Given the description of an element on the screen output the (x, y) to click on. 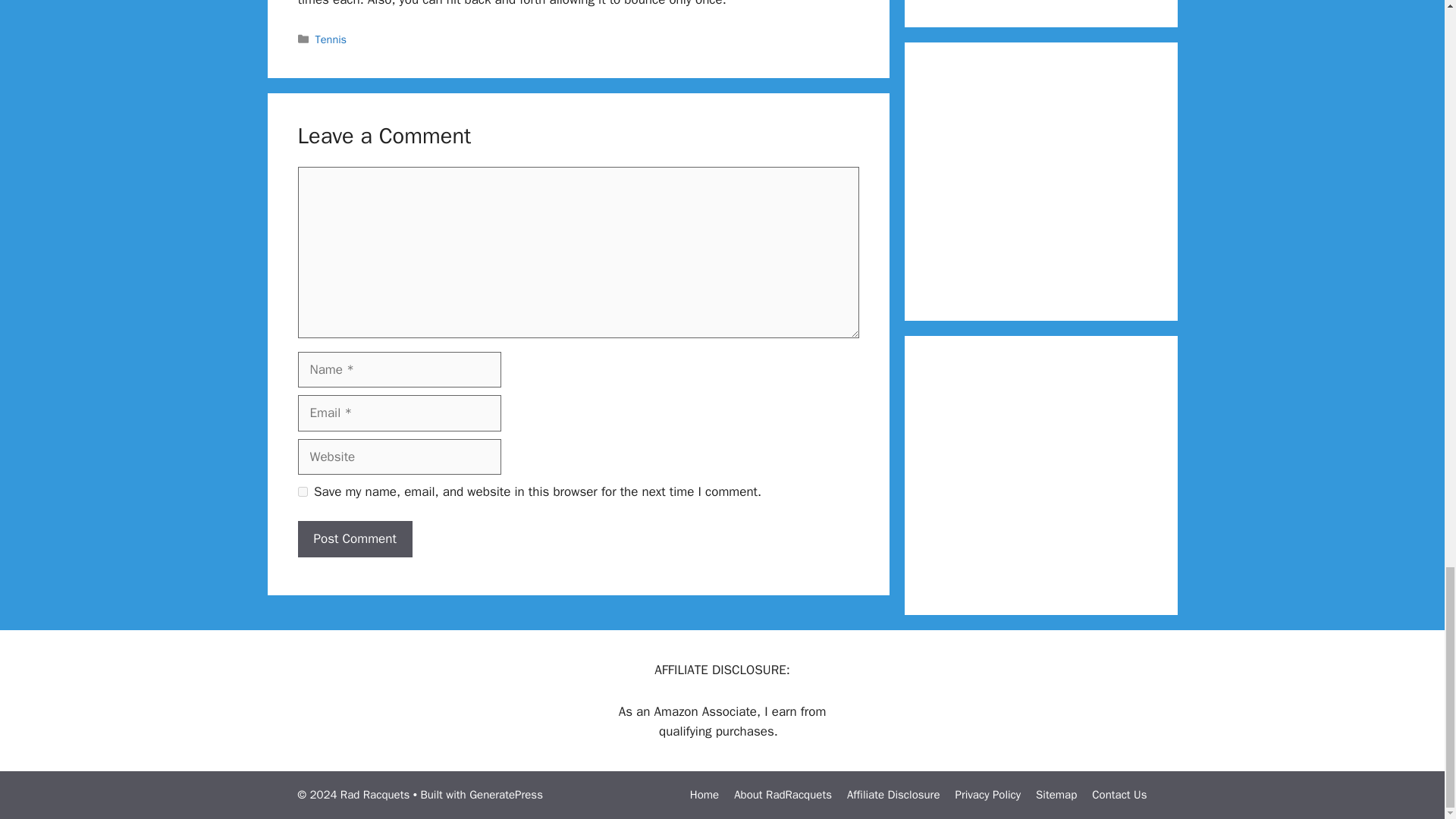
Home (704, 794)
Post Comment (354, 538)
Post Comment (354, 538)
Tennis (331, 38)
About RadRacquets (782, 794)
Affiliate Disclosure (893, 794)
yes (302, 491)
